Given the description of an element on the screen output the (x, y) to click on. 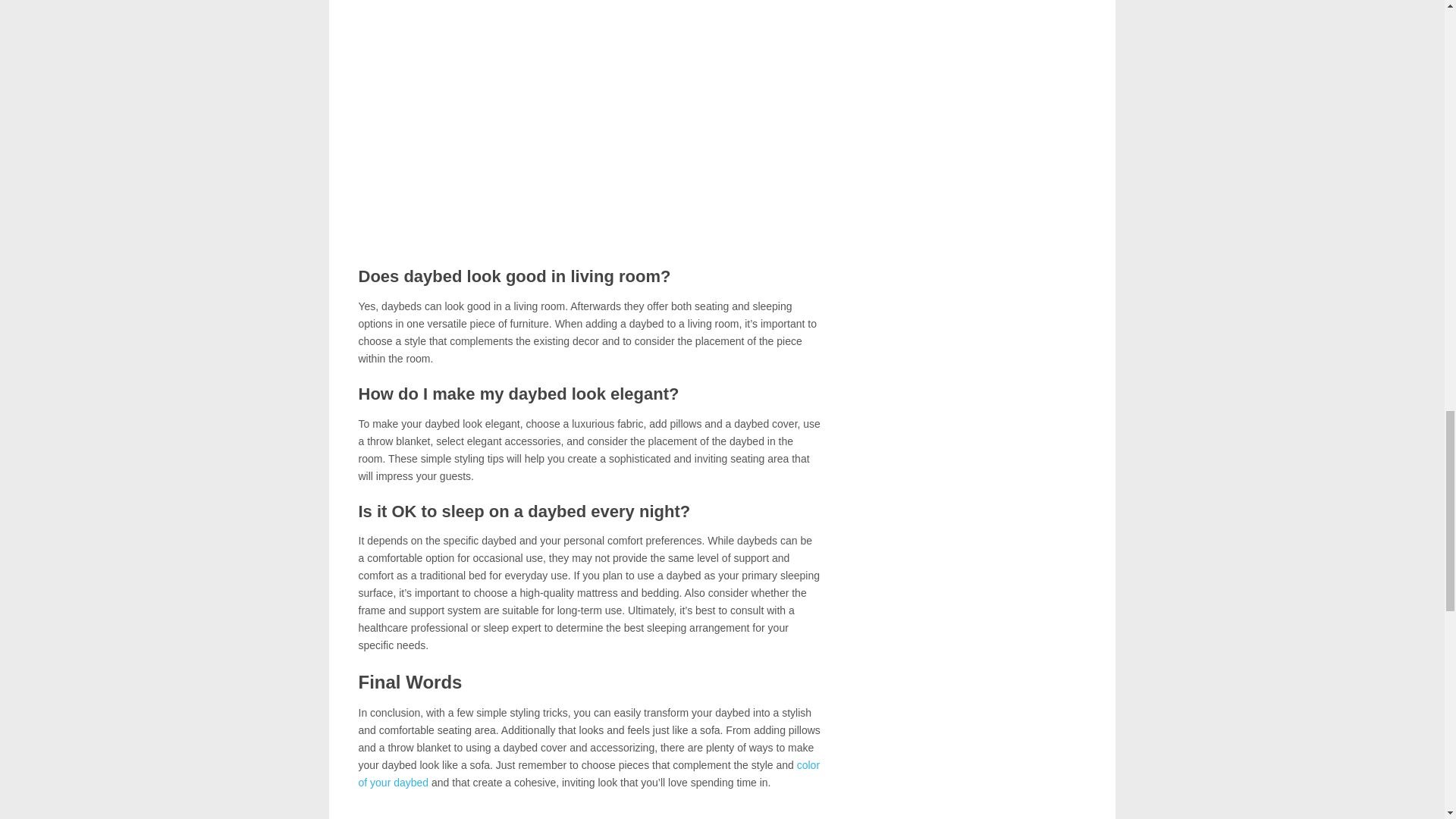
color of your daybed (588, 773)
